Given the description of an element on the screen output the (x, y) to click on. 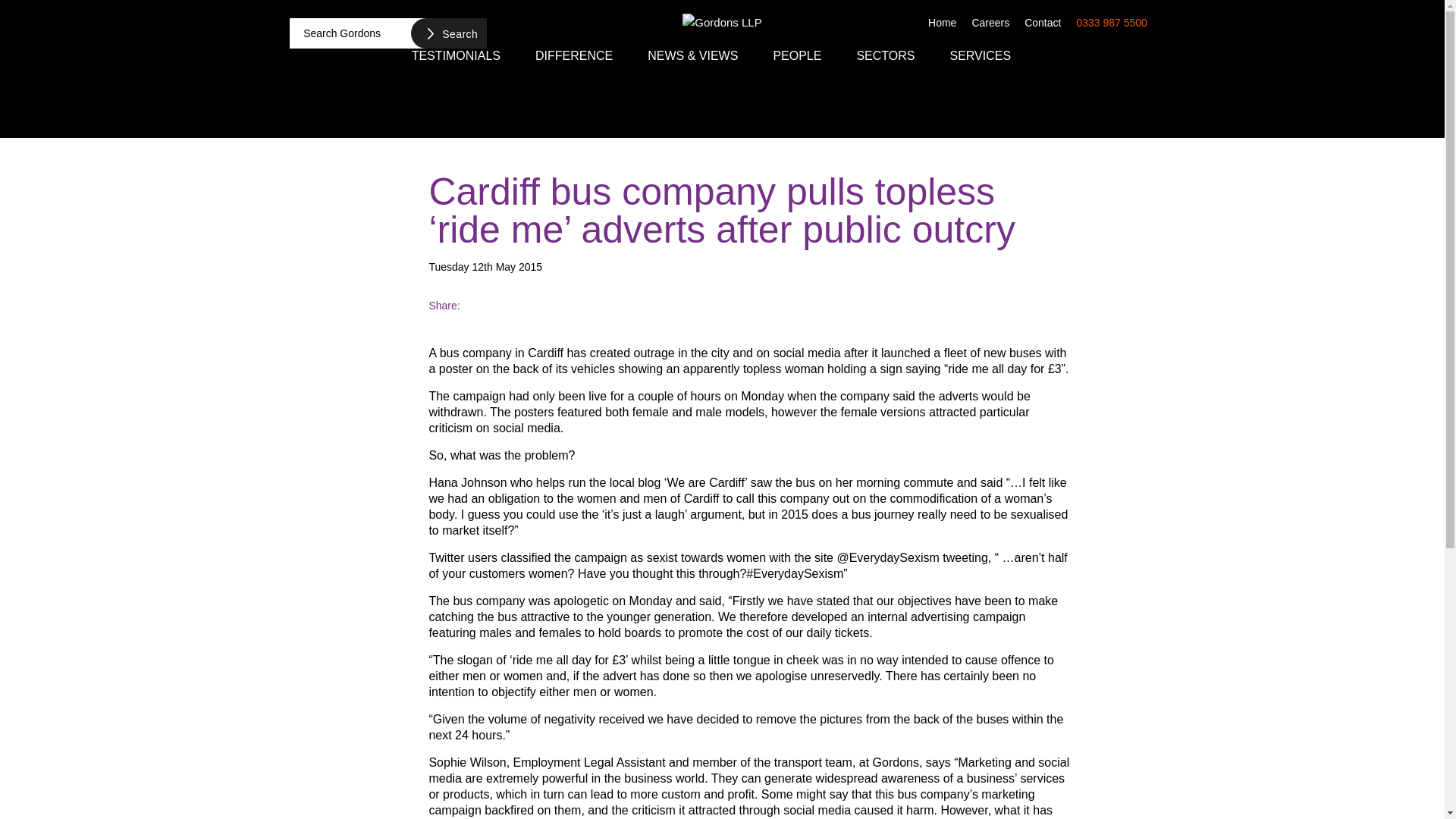
Contact (1042, 21)
Search (448, 33)
Gordons LLP (721, 22)
Careers (989, 21)
Search (448, 33)
TESTIMONIALS (456, 54)
Home (941, 21)
0333 987 5500 (1111, 21)
